Given the description of an element on the screen output the (x, y) to click on. 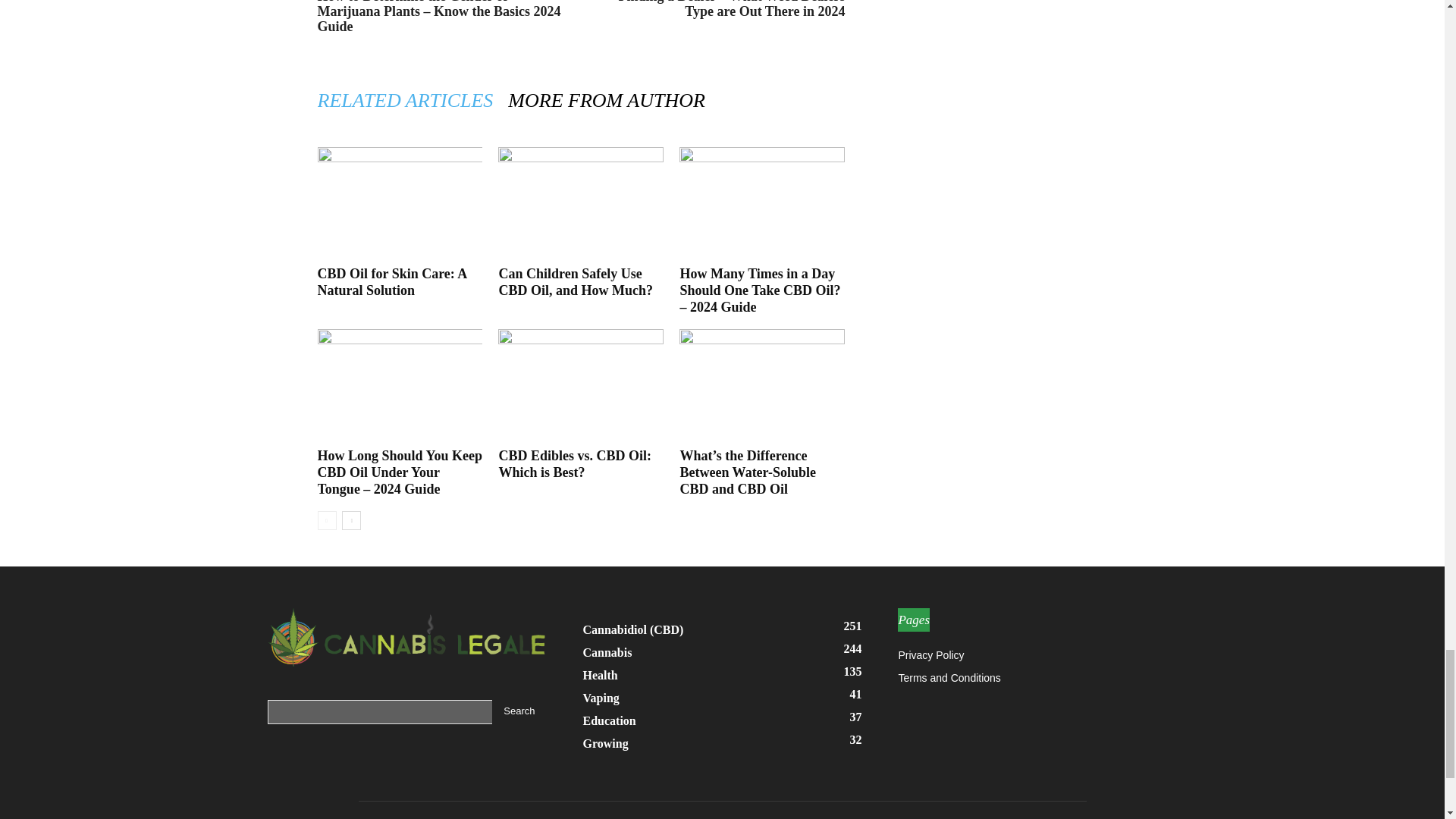
CBD Oil for Skin Care: A Natural Solution (391, 282)
Can Children Safely Use CBD Oil, and How Much? (574, 282)
Search (519, 711)
Can Children Safely Use CBD Oil, and How Much? (580, 204)
CBD Oil for Skin Care: A Natural Solution (399, 204)
